Given the description of an element on the screen output the (x, y) to click on. 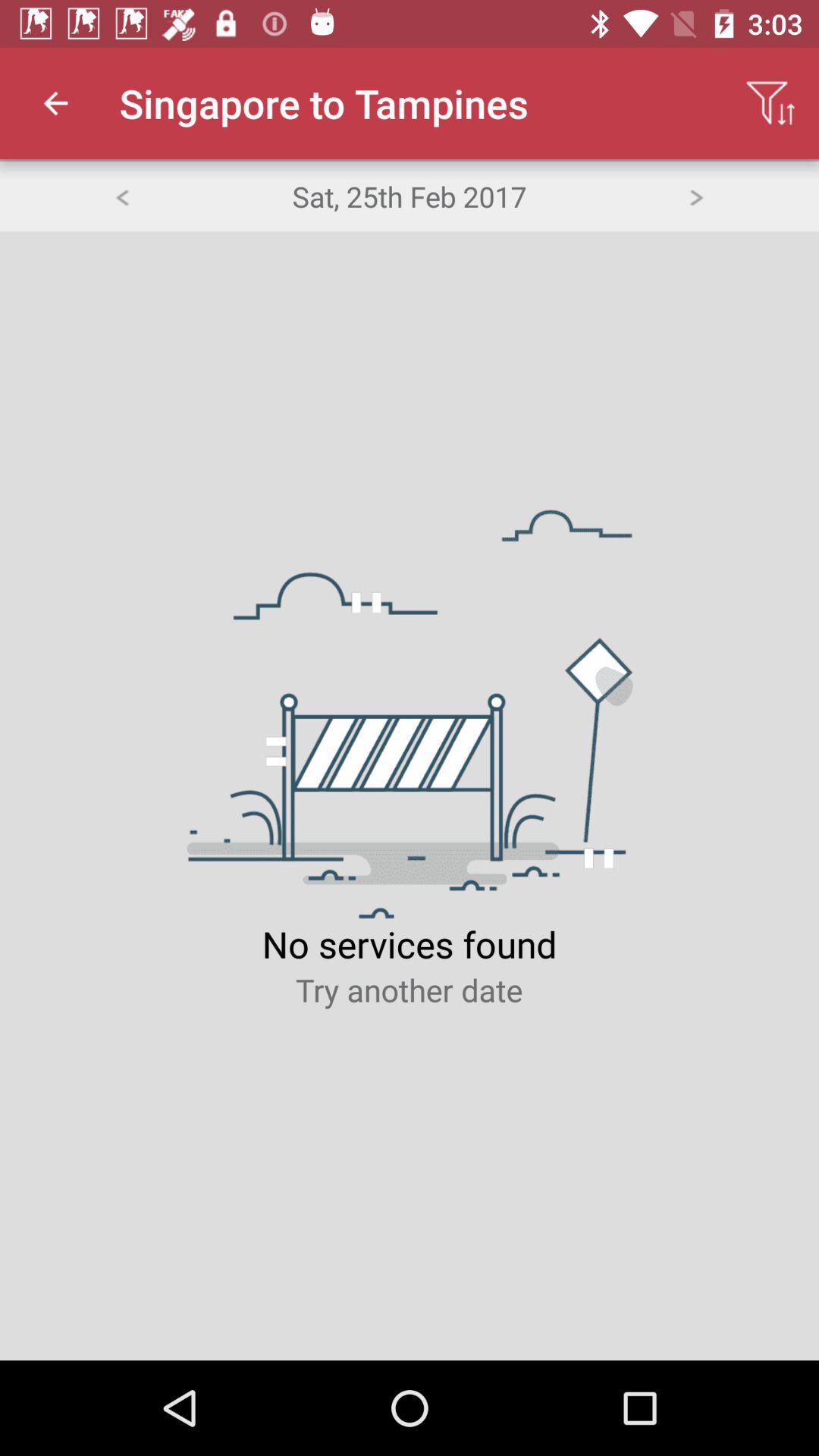
select the item to the left of sat 25th feb item (121, 196)
